Given the description of an element on the screen output the (x, y) to click on. 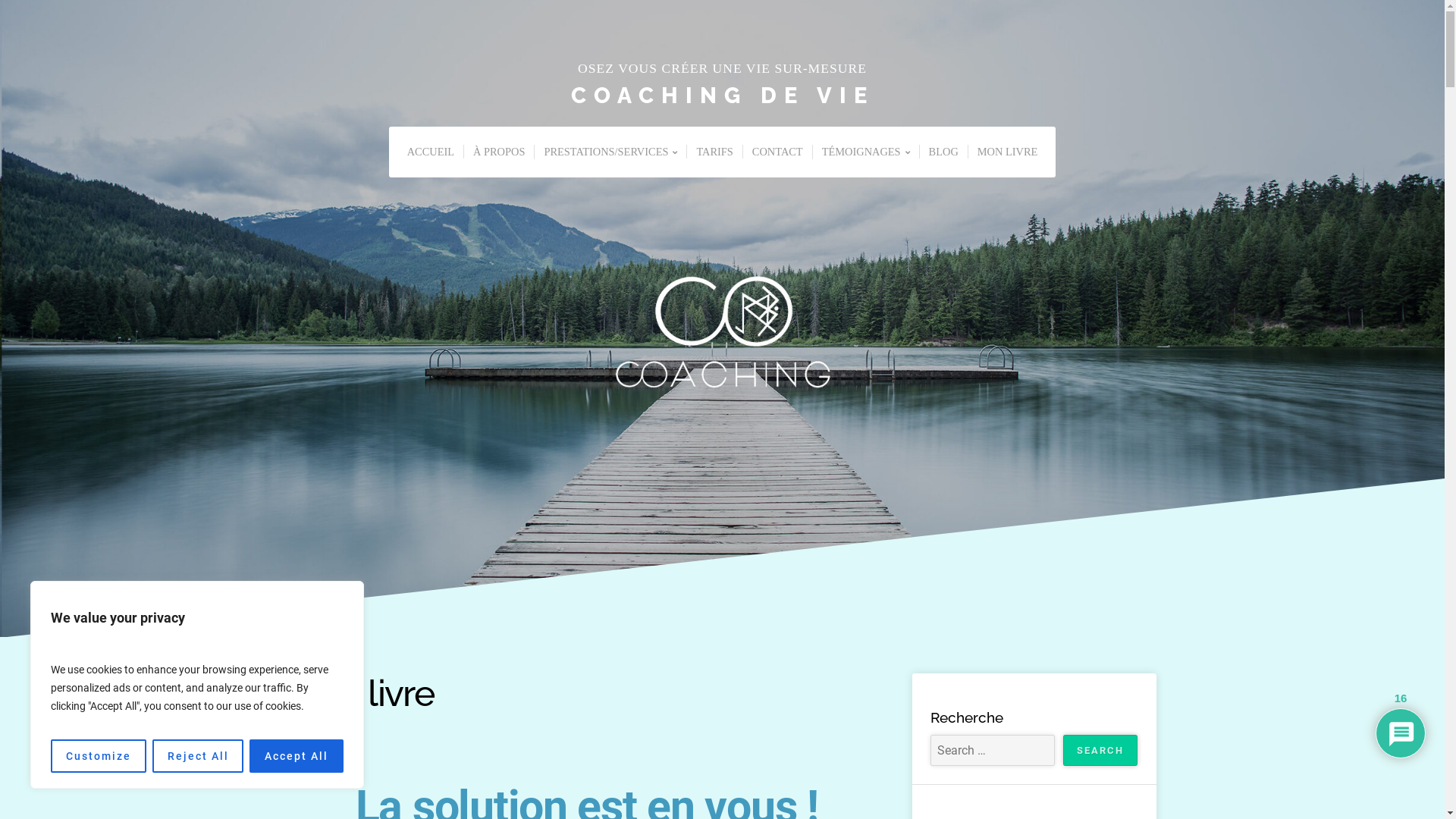
BLOG Element type: text (943, 151)
Accept All Element type: text (296, 755)
MON LIVRE Element type: text (1007, 151)
Reject All Element type: text (198, 755)
COACHING DE VIE Element type: text (721, 95)
PRESTATIONS/SERVICES Element type: text (609, 151)
CONTACT Element type: text (777, 151)
Customize Element type: text (98, 755)
ACCUEIL Element type: text (430, 151)
TARIFS Element type: text (713, 151)
Search Element type: text (1100, 749)
